Given the description of an element on the screen output the (x, y) to click on. 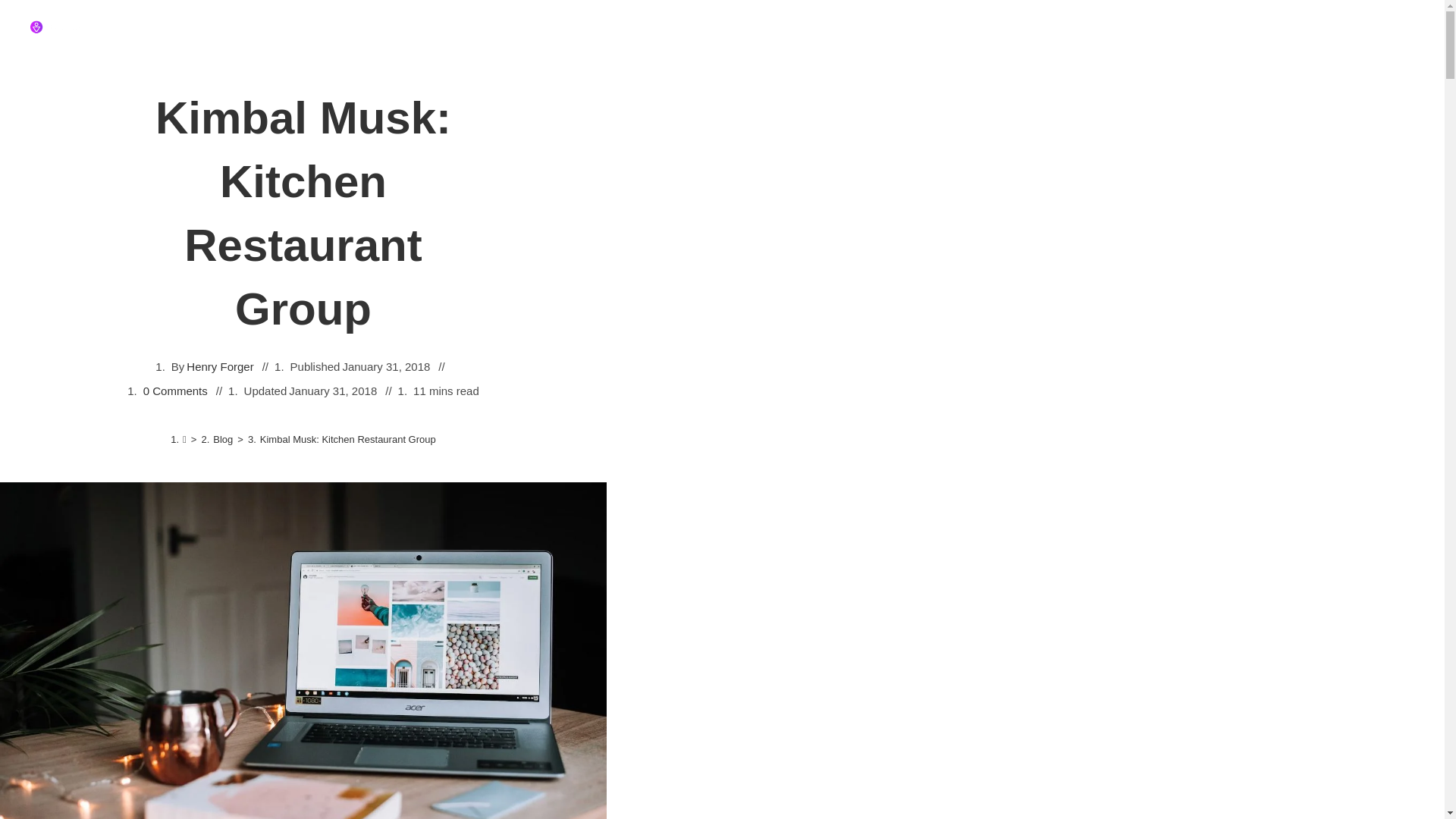
Henry Forger (219, 366)
Kimbal Musk: Kitchen Restaurant Group (347, 439)
Blog (222, 439)
0 Comments (175, 390)
